Given the description of an element on the screen output the (x, y) to click on. 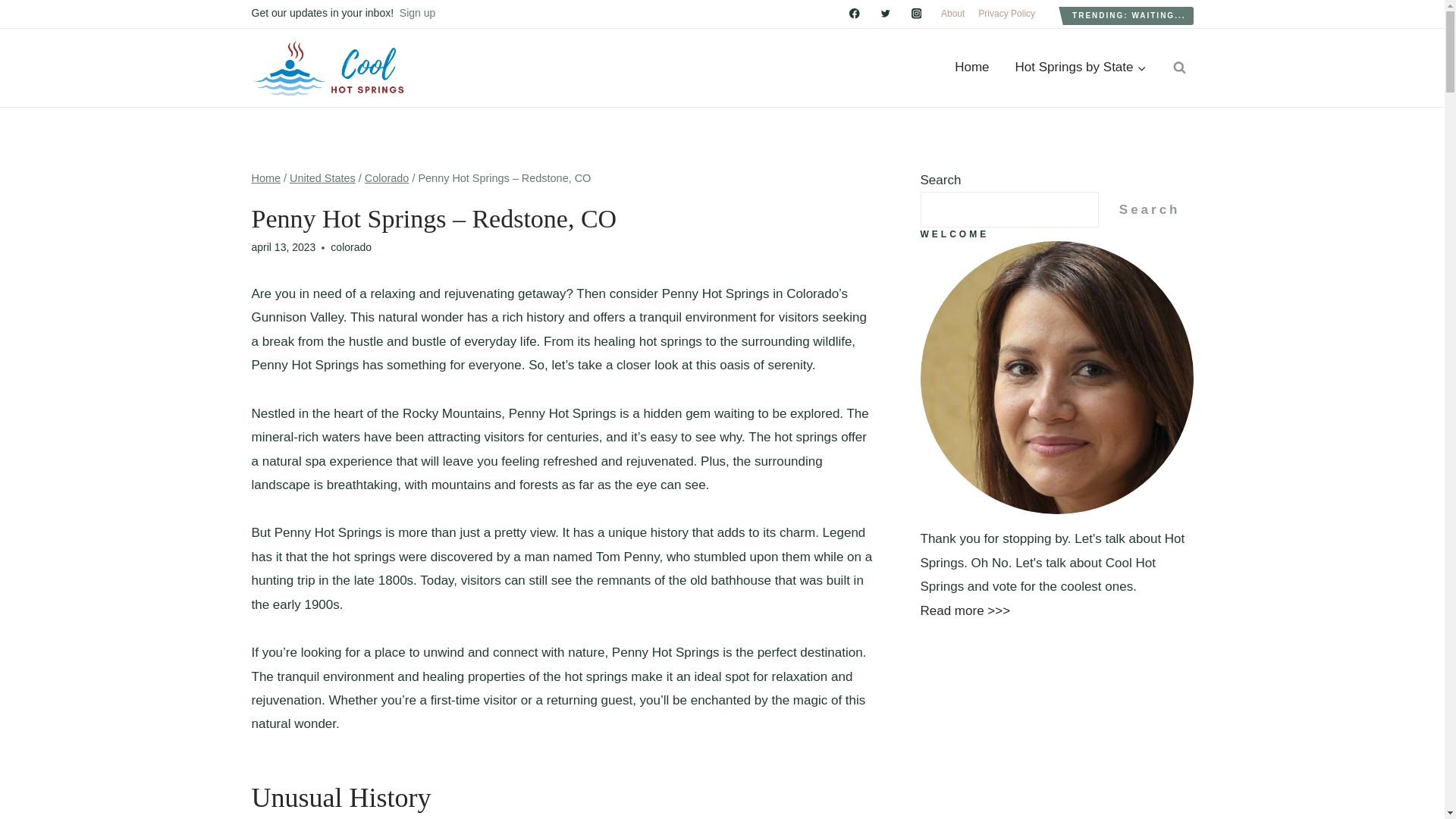
Privacy Policy (1006, 13)
Sign up (416, 12)
TRENDING: WAITING... (1128, 15)
United States (322, 177)
Home (266, 177)
Search (1149, 209)
Colorado (387, 177)
colorado (350, 246)
Home (971, 66)
Hot Springs by State (1080, 66)
